Given the description of an element on the screen output the (x, y) to click on. 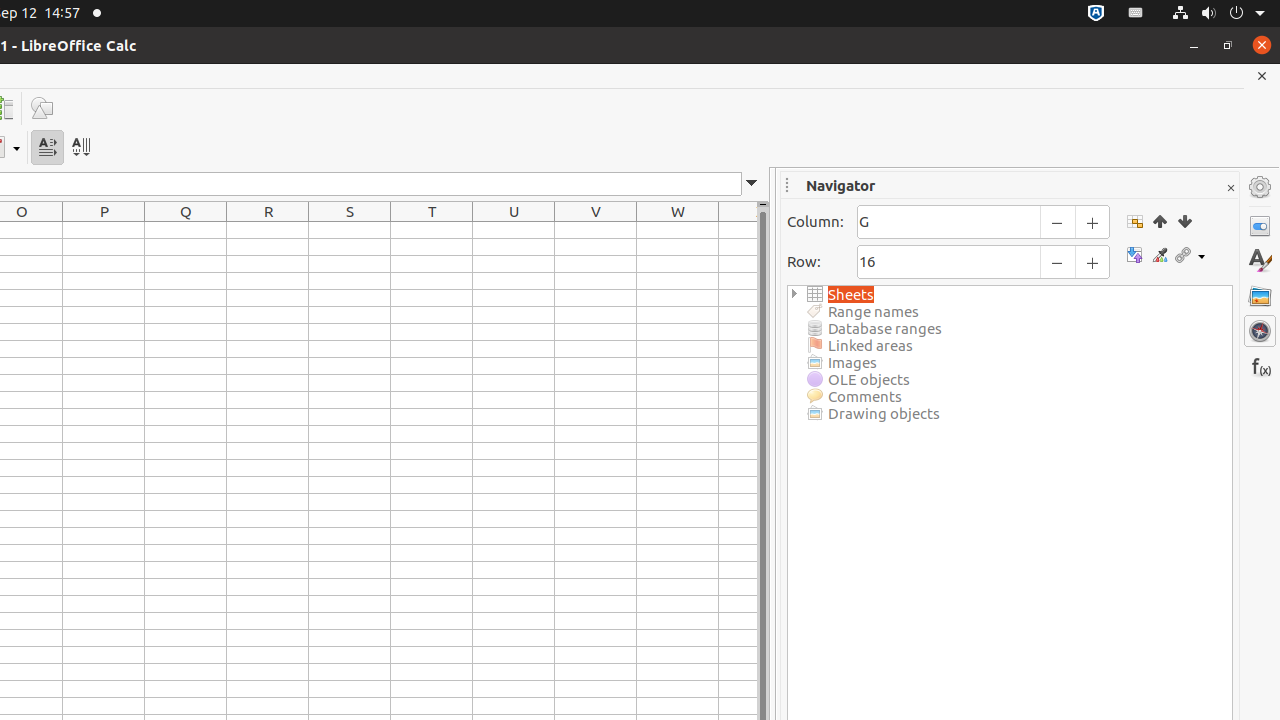
System Element type: menu (1218, 13)
Functions Element type: radio-button (1260, 366)
Q1 Element type: table-cell (186, 230)
Start Element type: push-button (1159, 221)
:1.72/StatusNotifierItem Element type: menu (1096, 13)
